Given the description of an element on the screen output the (x, y) to click on. 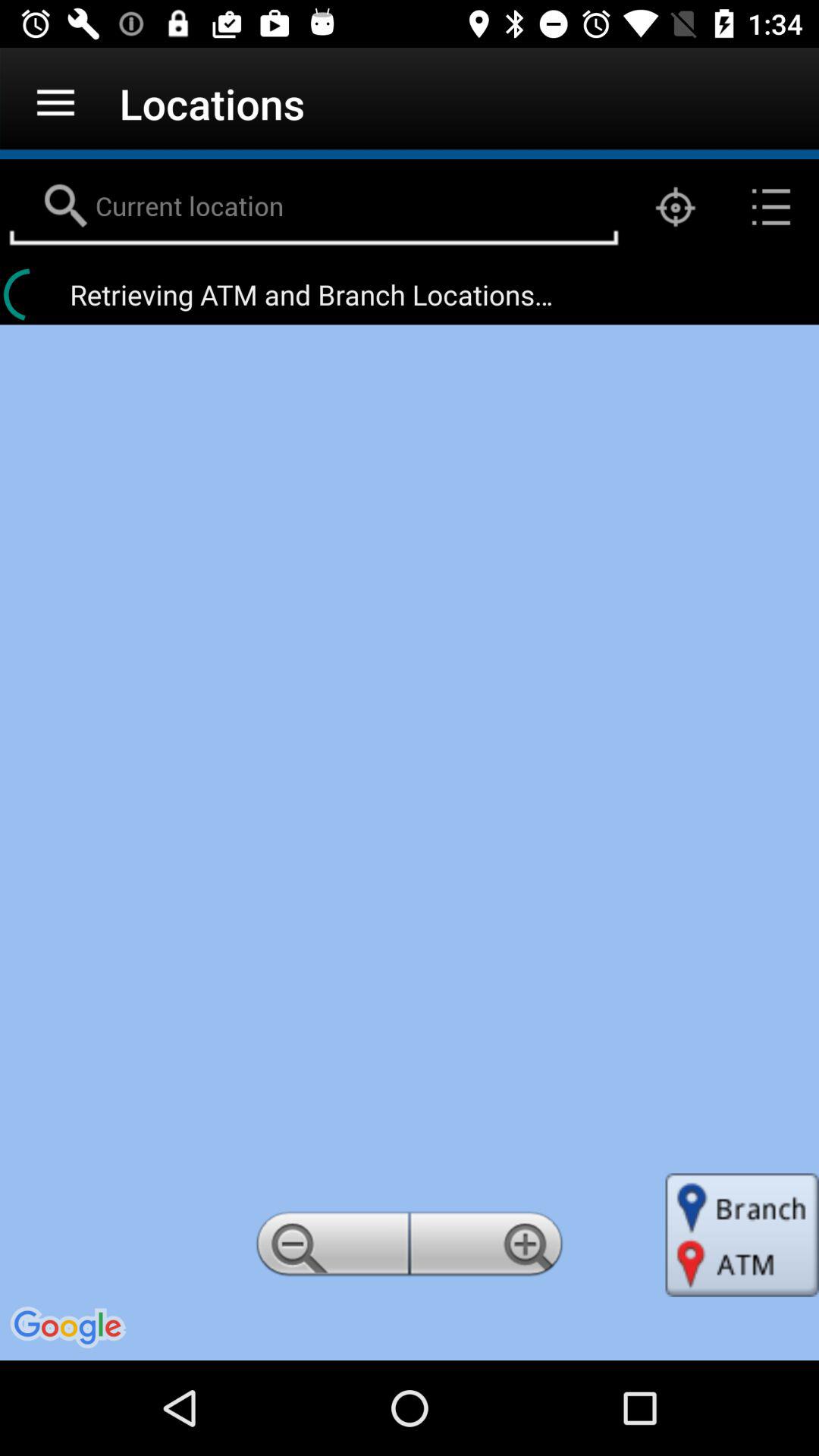
this is for zoom out the display page (329, 1248)
